Given the description of an element on the screen output the (x, y) to click on. 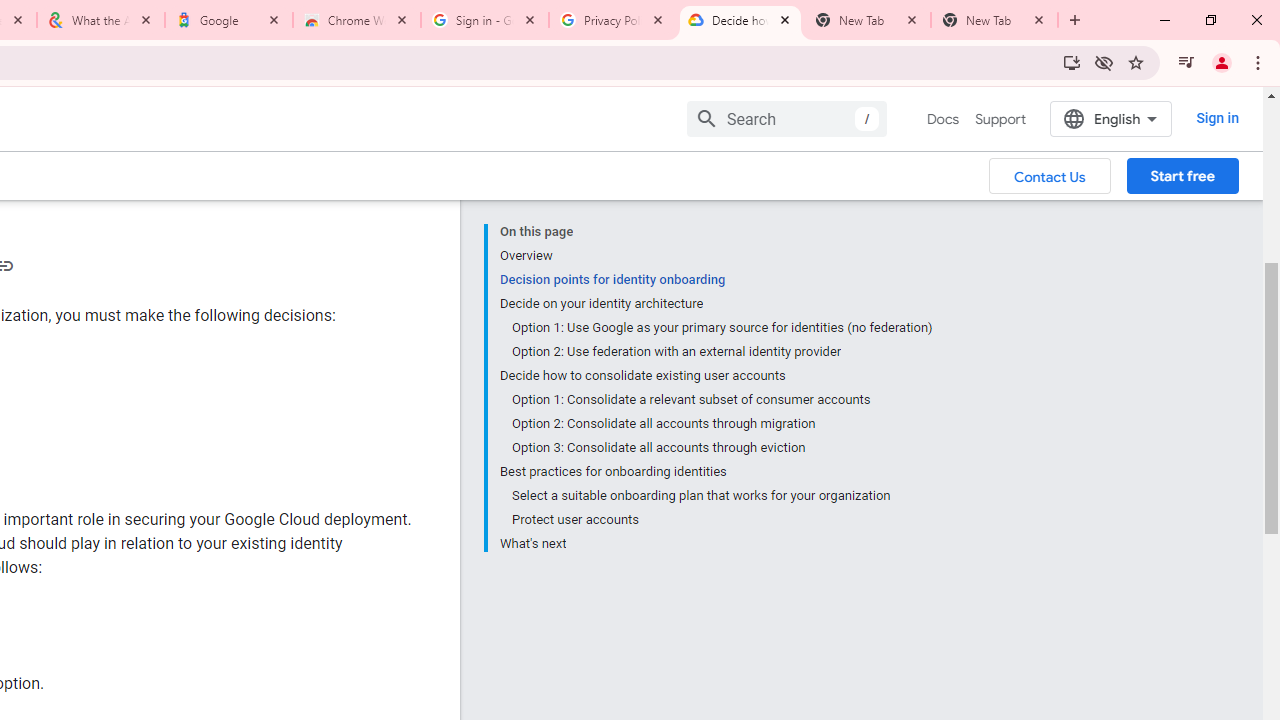
Sign in - Google Accounts (485, 20)
English (1110, 118)
Docs, selected (942, 119)
Best practices for onboarding identities (716, 471)
Protect user accounts (721, 520)
